Given the description of an element on the screen output the (x, y) to click on. 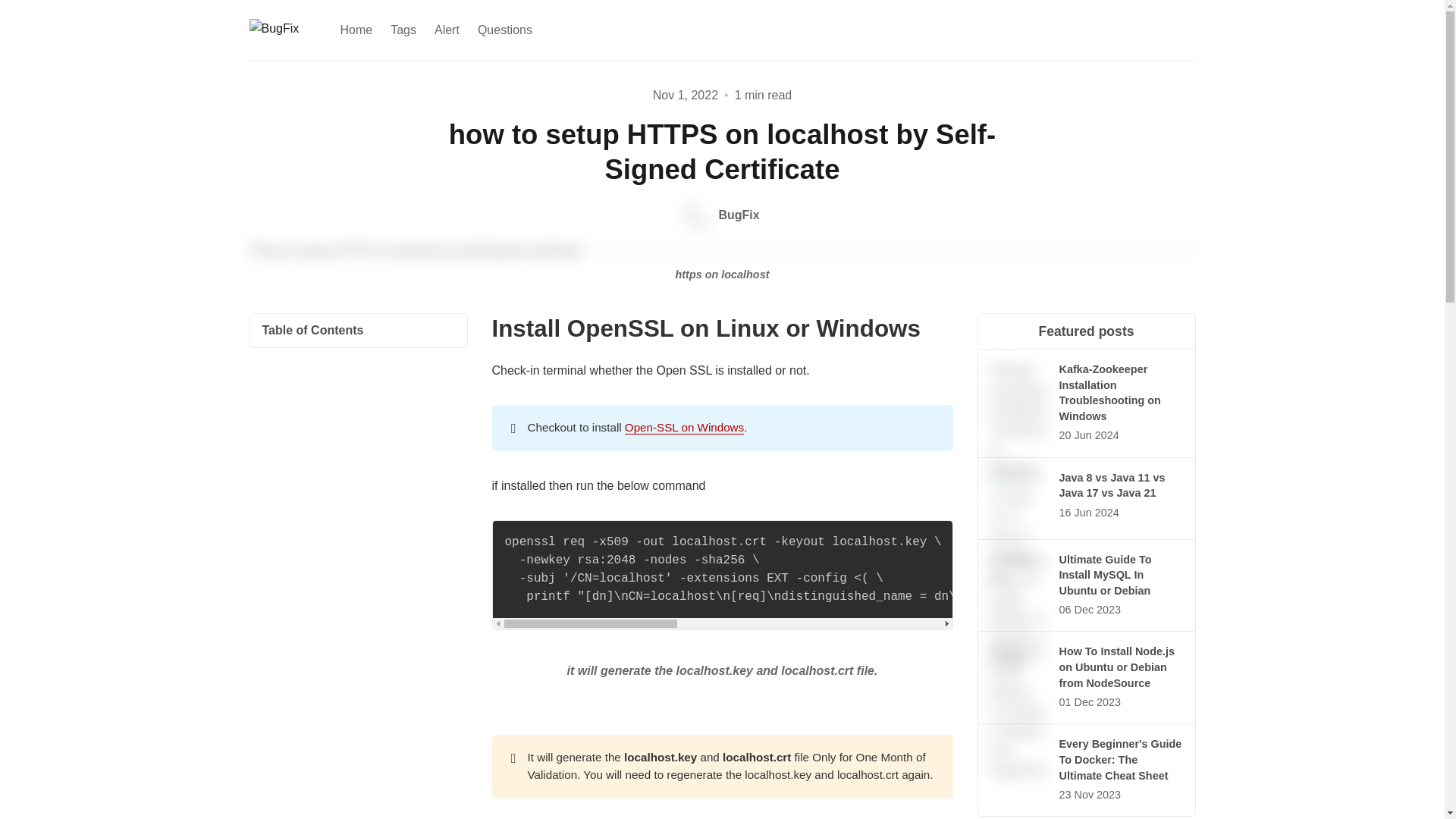
Home (355, 29)
Tags (403, 29)
Alert (446, 29)
More (553, 30)
Open-SSL on Windows (684, 427)
Theme Toggle (1158, 30)
Search (1182, 30)
Questions (504, 29)
BugFix (721, 215)
